Given the description of an element on the screen output the (x, y) to click on. 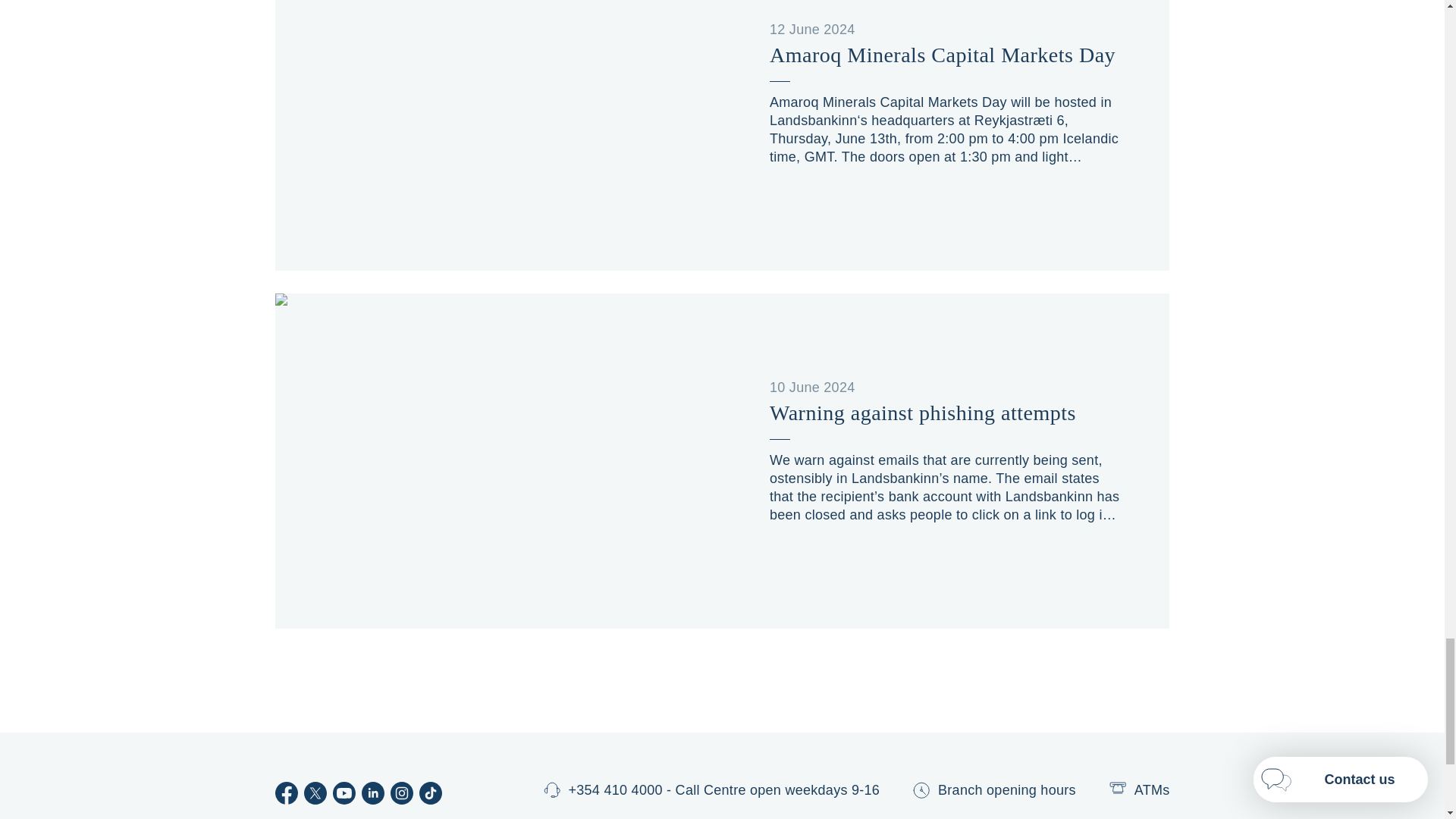
Amaroq Minerals Capital Markets Day (945, 54)
Amaroq Minerals Capital Markets Day (945, 54)
Warning against phishing attempts (945, 412)
Branch opening hours (993, 793)
Warning against phishing attempts (945, 412)
ATMs (1139, 791)
